Given the description of an element on the screen output the (x, y) to click on. 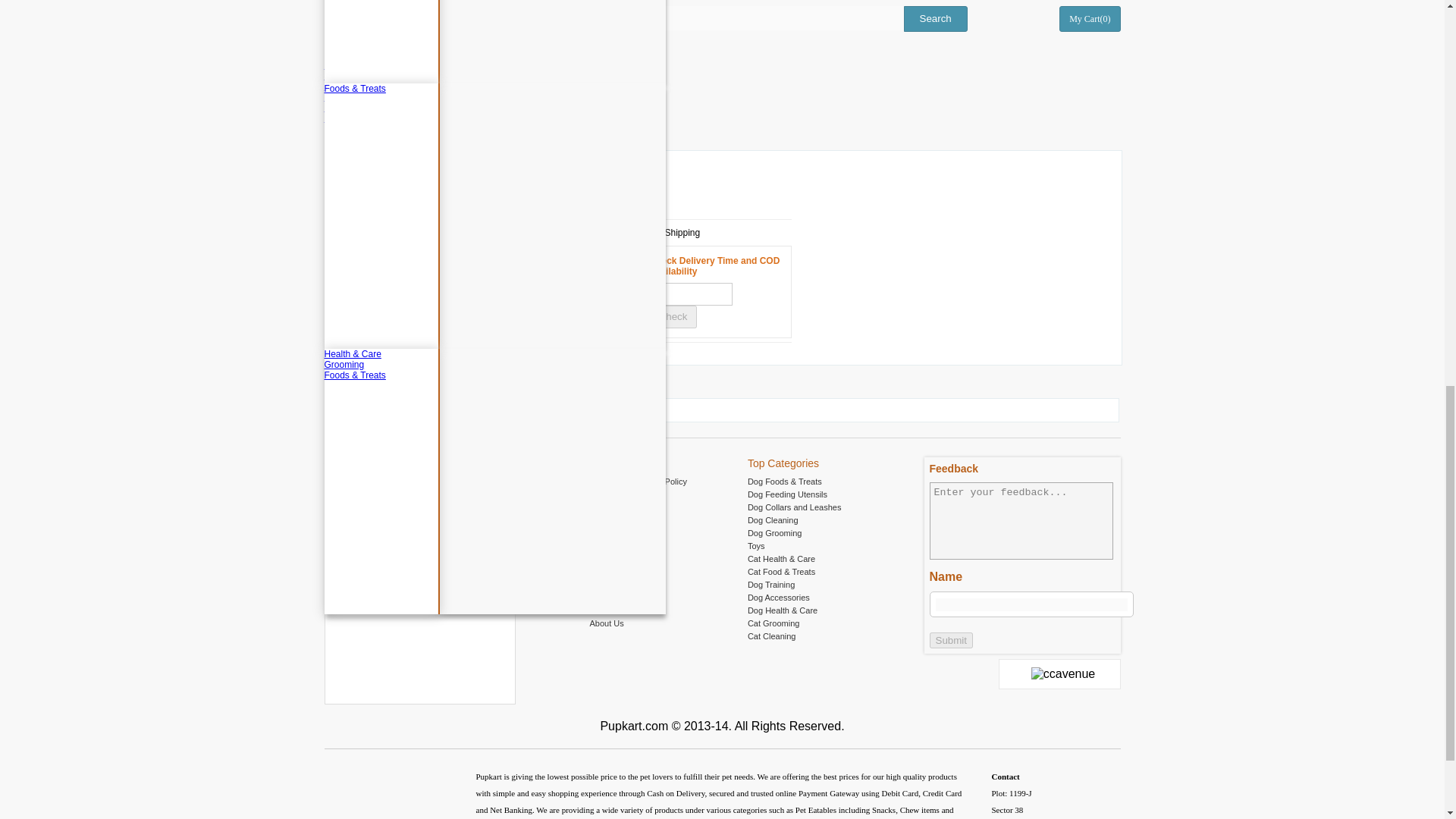
Fish (722, 96)
register (328, 3)
Cat (722, 75)
Brands (722, 118)
home (330, 51)
Small Pets (722, 107)
Search (936, 18)
Birds (722, 86)
Check (672, 316)
Dog (722, 64)
Search (936, 18)
Click to return to Homepage (384, 17)
Submit (951, 640)
